Given the description of an element on the screen output the (x, y) to click on. 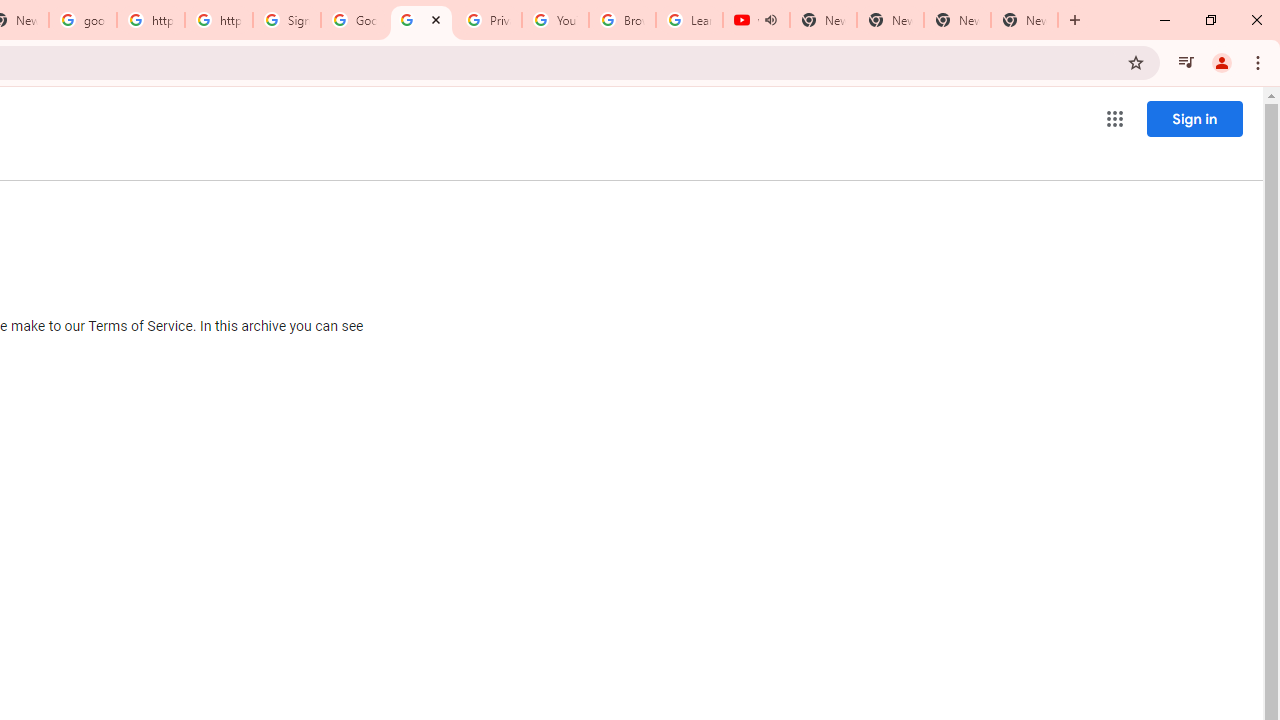
https://scholar.google.com/ (150, 20)
New Tab (1024, 20)
